Given the description of an element on the screen output the (x, y) to click on. 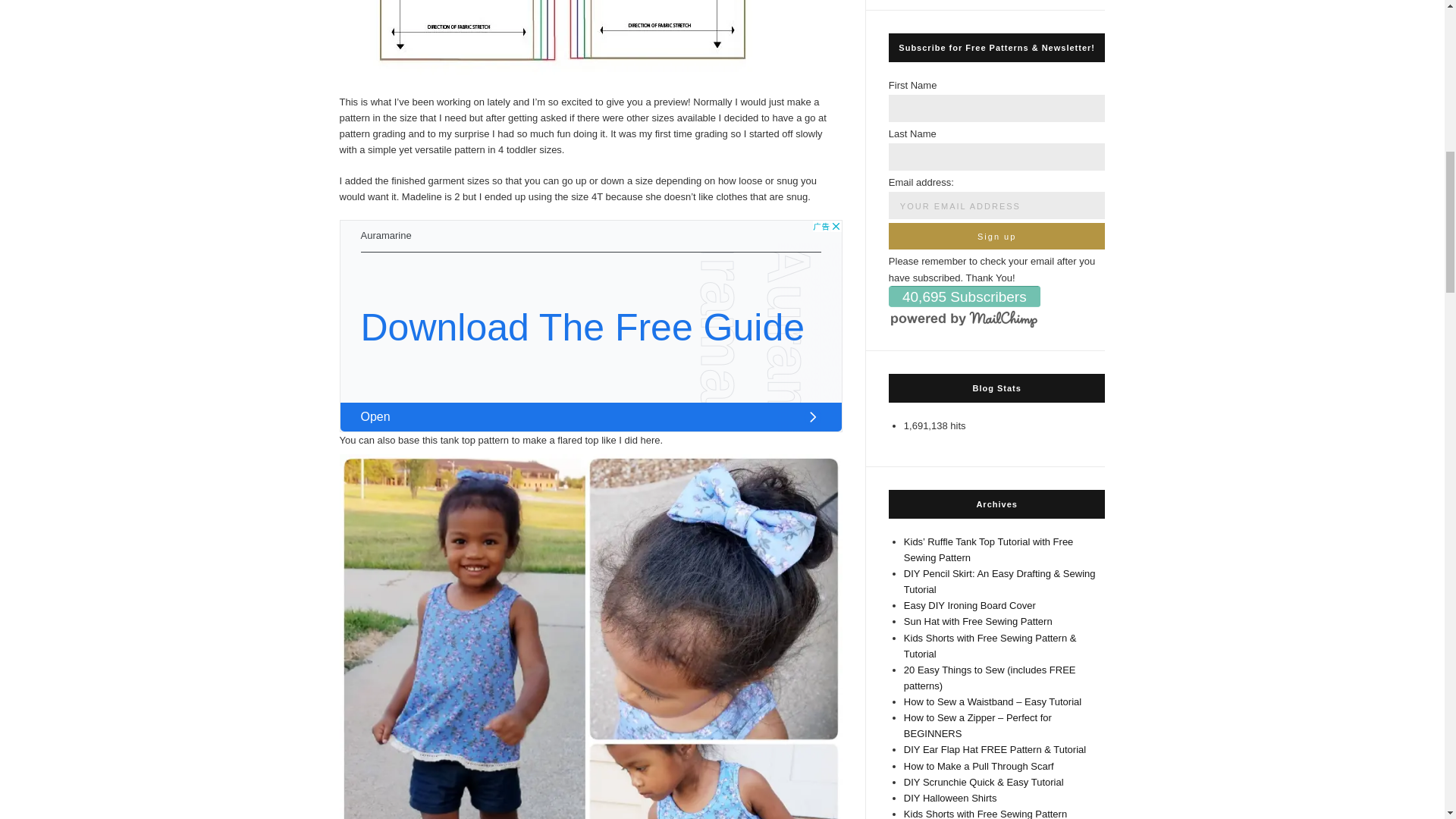
Sign up (996, 235)
Advertisement (591, 326)
